Given the description of an element on the screen output the (x, y) to click on. 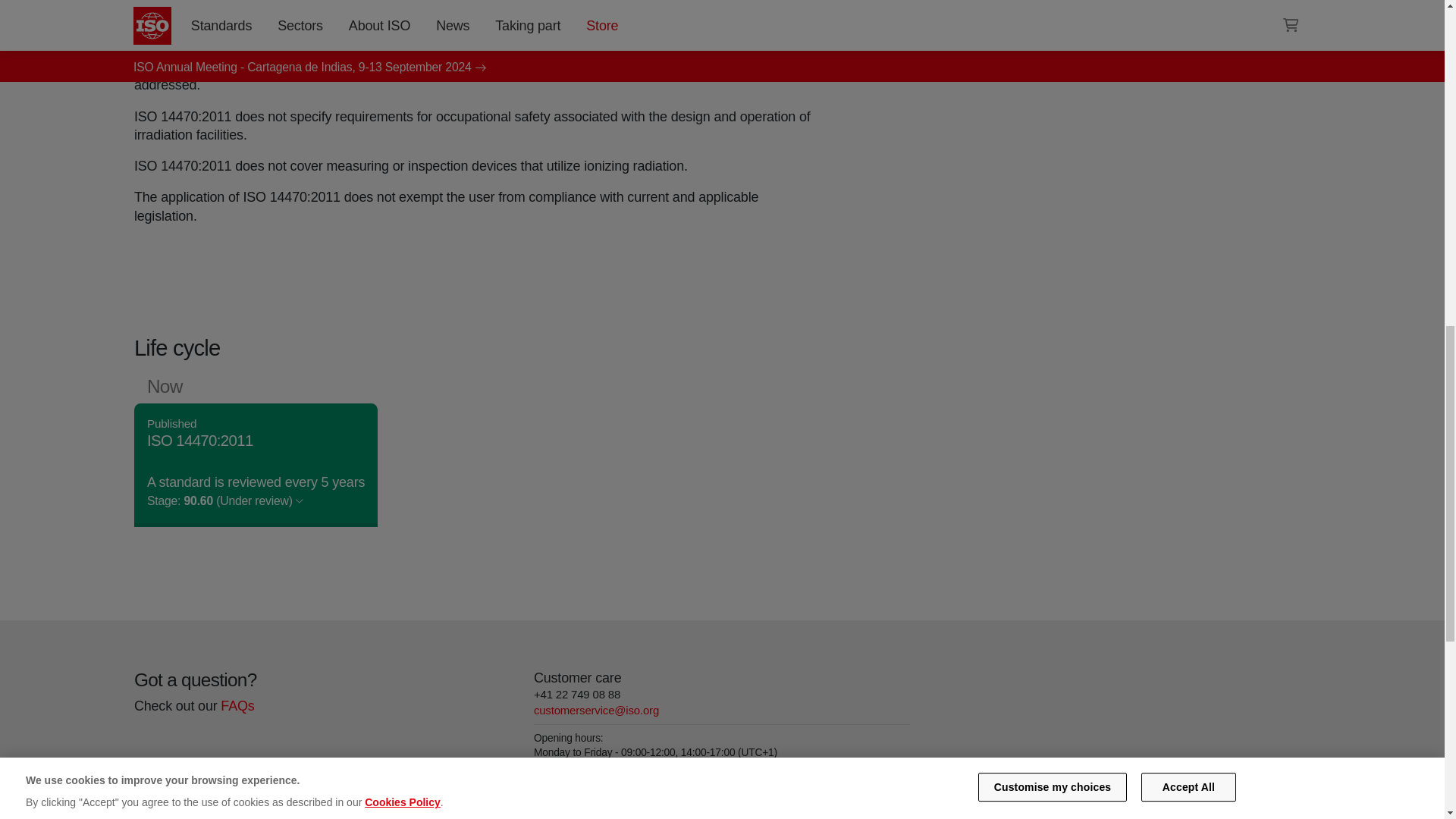
Food products (1100, 7)
Processes in the food industry (988, 27)
67.020 (988, 27)
RSS (956, 56)
